Given the description of an element on the screen output the (x, y) to click on. 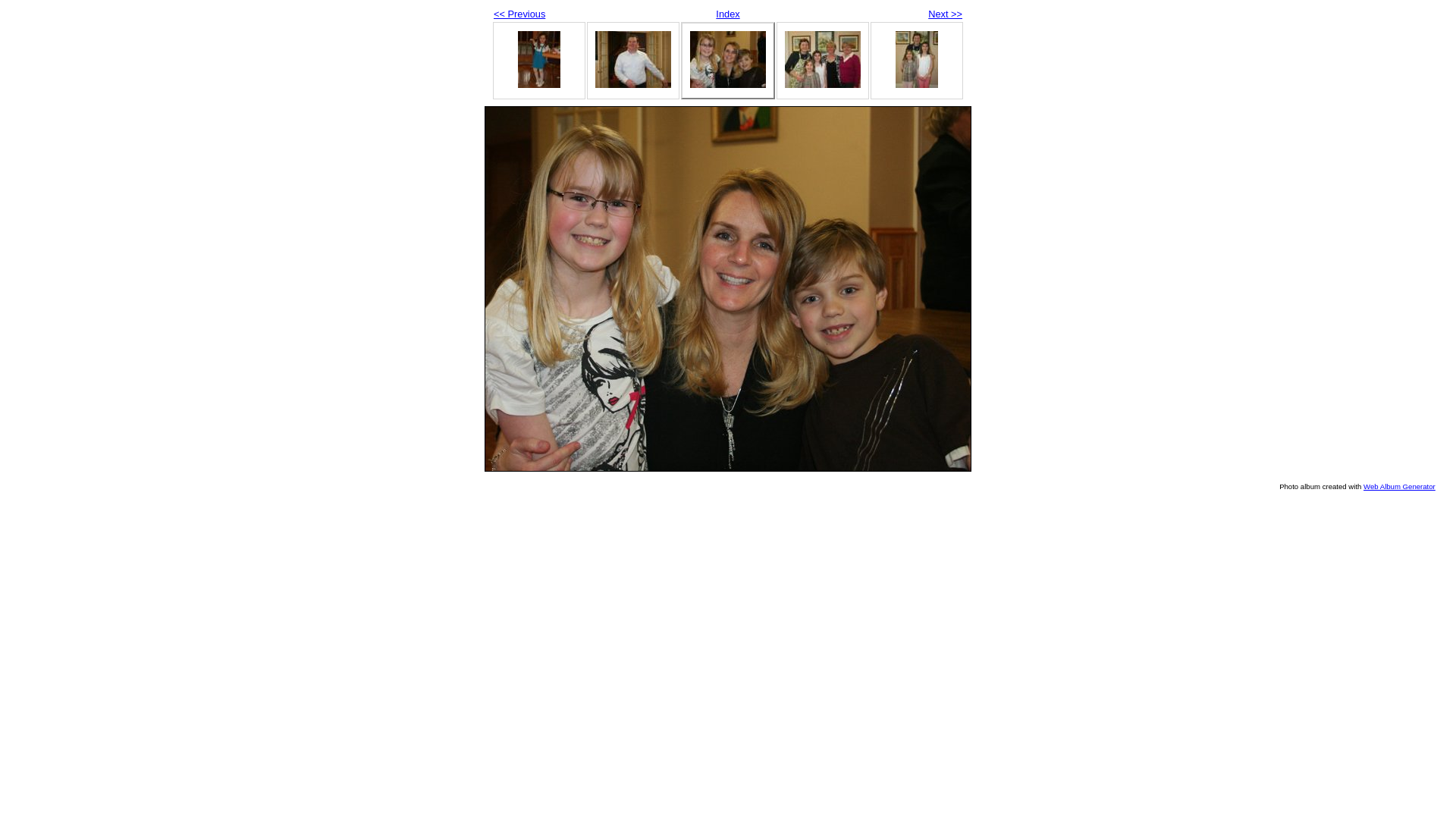
Index Element type: text (727, 13)
IMG_9621 Element type: hover (822, 59)
IMG_9620 Element type: hover (727, 59)
IMG_9622 Element type: hover (916, 59)
IMG_9618 Element type: hover (538, 59)
Next >> Element type: text (945, 13)
<< Previous Element type: text (519, 13)
IMG_9619 Element type: hover (633, 59)
Web Album Generator Element type: text (1399, 486)
IMG_9620 Element type: hover (727, 288)
